Given the description of an element on the screen output the (x, y) to click on. 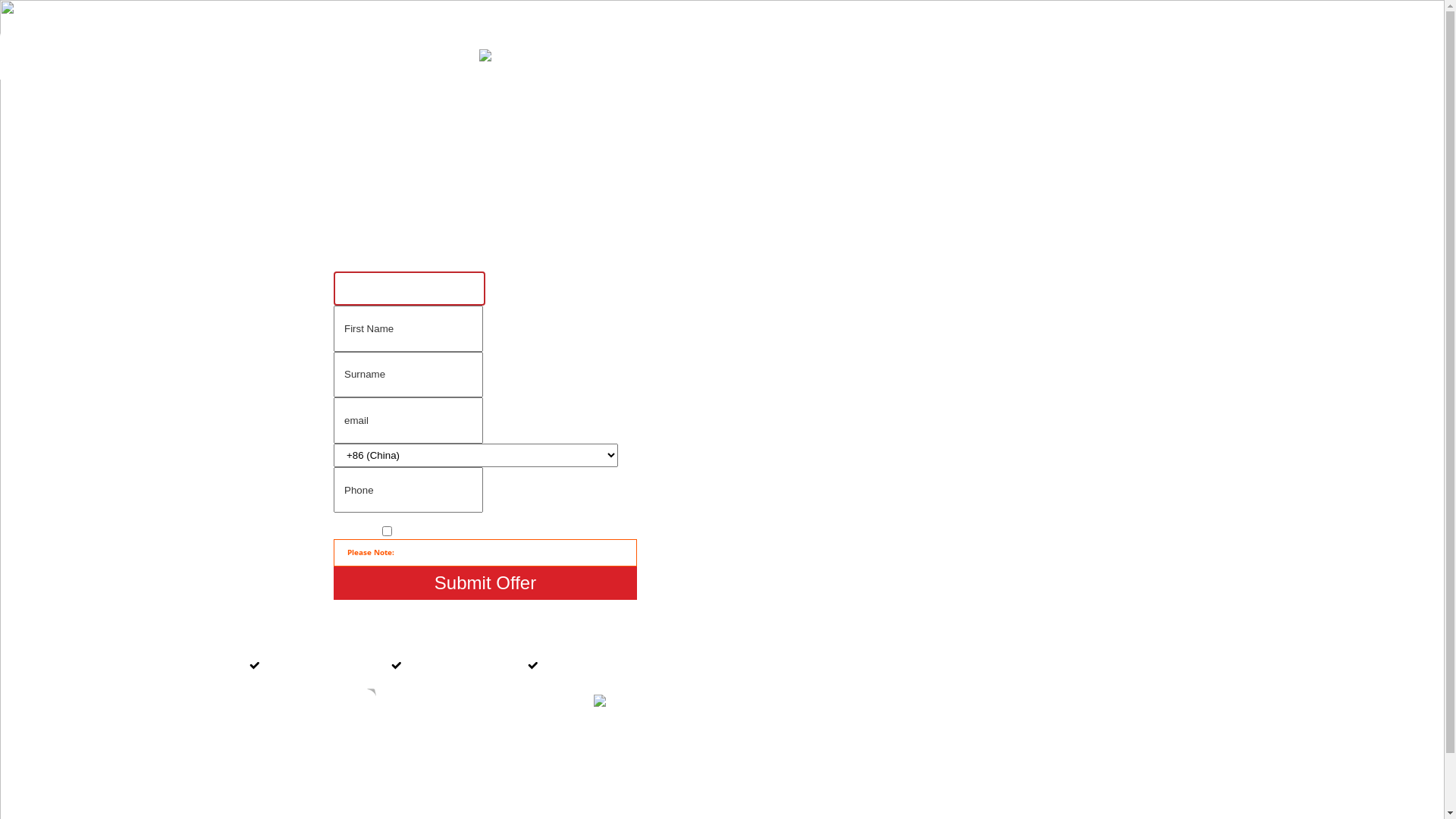
Submit Offer Element type: text (485, 582)
Privacy Policy Element type: text (408, 752)
Terms Element type: text (533, 532)
About Us Element type: text (572, 752)
Terms of Services Element type: text (495, 752)
Trellian Element type: text (470, 765)
